Given the description of an element on the screen output the (x, y) to click on. 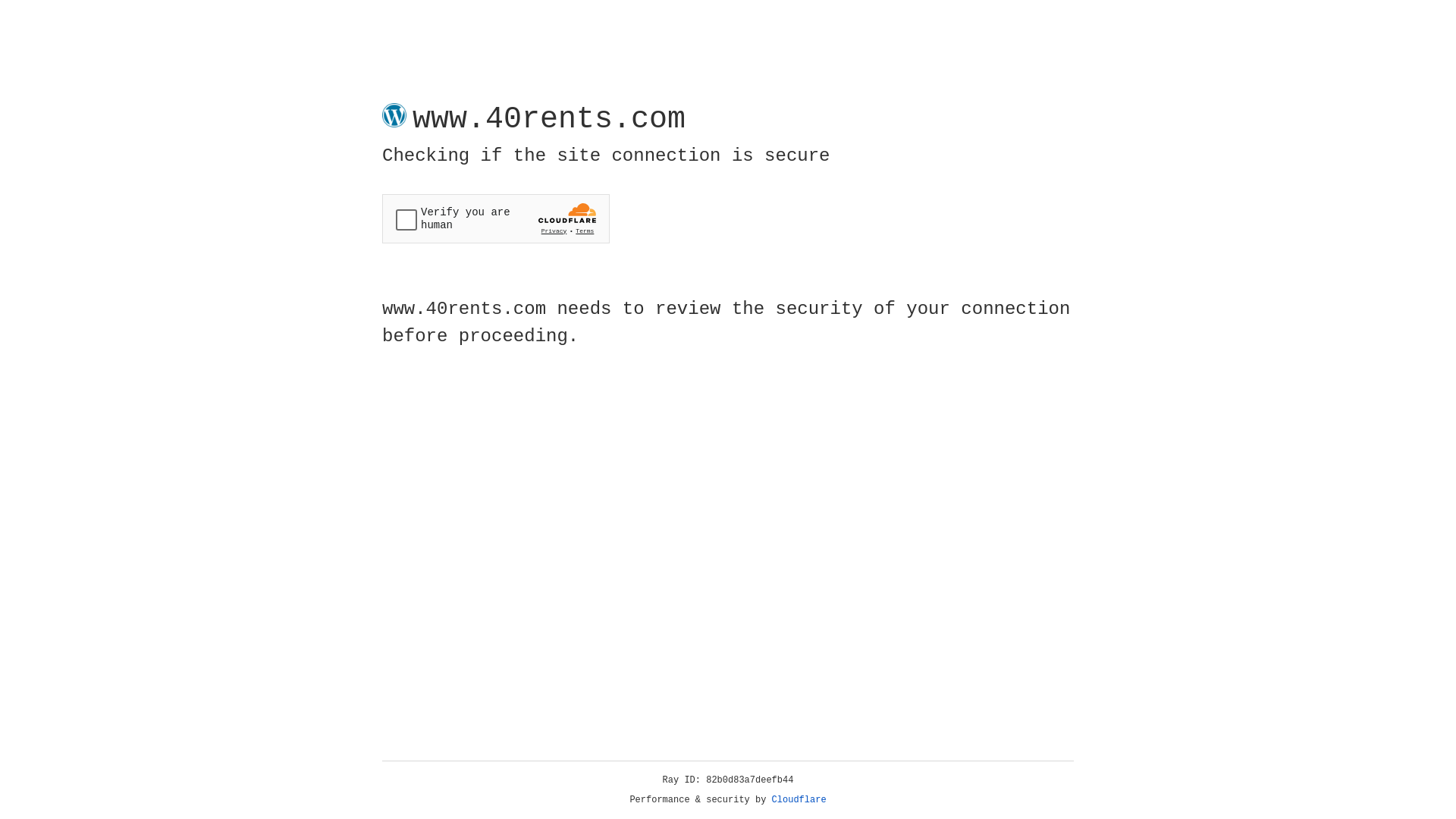
Cloudflare Element type: text (798, 799)
Widget containing a Cloudflare security challenge Element type: hover (495, 218)
